Given the description of an element on the screen output the (x, y) to click on. 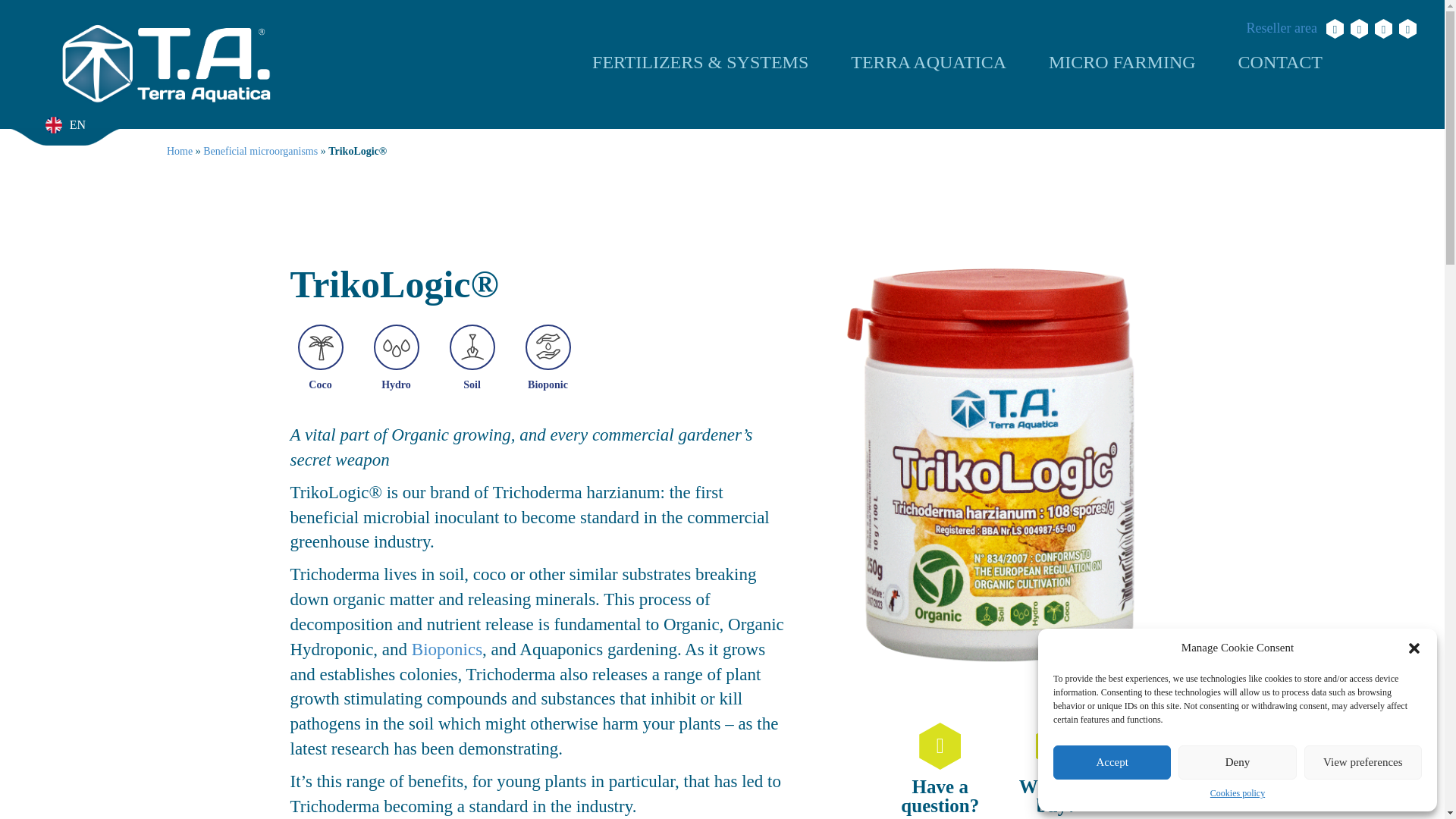
Accept (1111, 762)
Cookies policy (1237, 793)
Reseller area (1281, 28)
View preferences (1363, 762)
Deny (1236, 762)
